Given the description of an element on the screen output the (x, y) to click on. 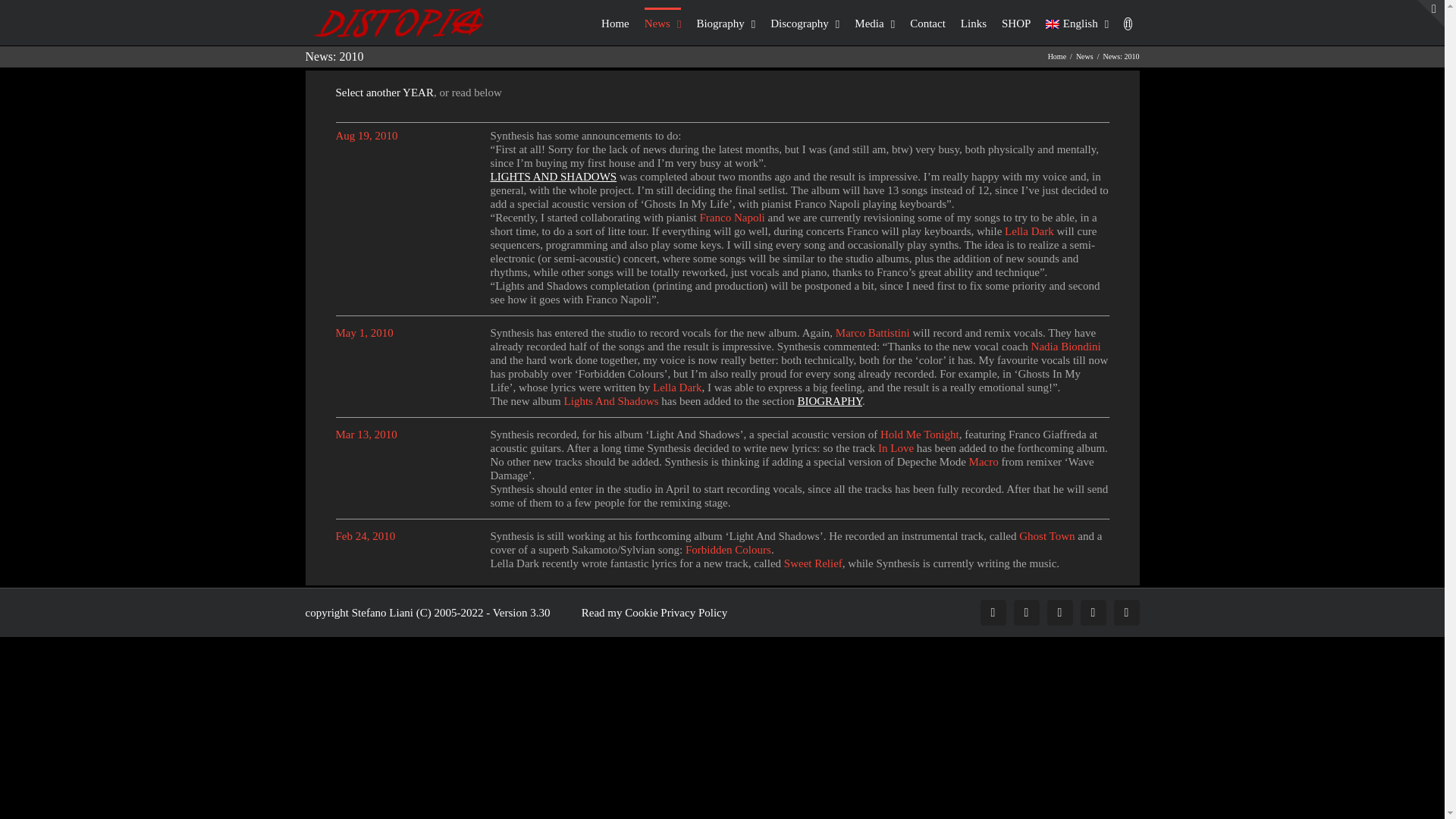
Select another YEAR, or read below (721, 99)
Discography (805, 22)
English (1076, 22)
Home (614, 22)
News (663, 22)
English (1052, 23)
Biography (725, 22)
